Given the description of an element on the screen output the (x, y) to click on. 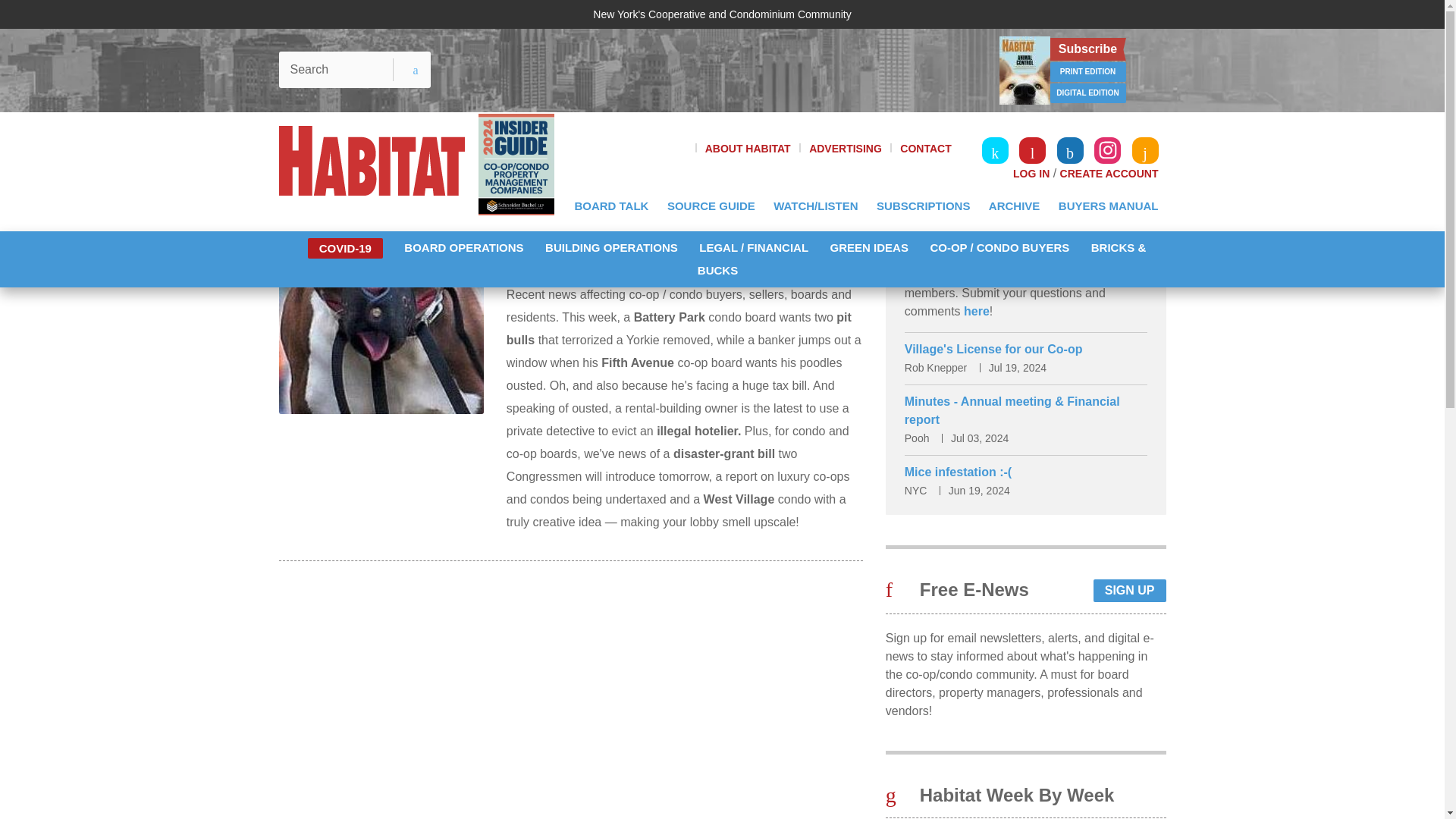
CONTACT (924, 148)
button (405, 69)
BOARD TALK (611, 205)
LOG IN (1031, 173)
button (405, 69)
Visit Instagram page (1107, 150)
ADVERTISING (845, 148)
Subscribe (1087, 48)
ABOUT HABITAT (747, 148)
PRINT EDITION (1087, 71)
DIGITAL EDITION (1087, 93)
SOURCE GUIDE (710, 205)
CREATE ACCOUNT (1108, 173)
SUBSCRIPTIONS (922, 205)
3rd party ad content (714, 70)
